Given the description of an element on the screen output the (x, y) to click on. 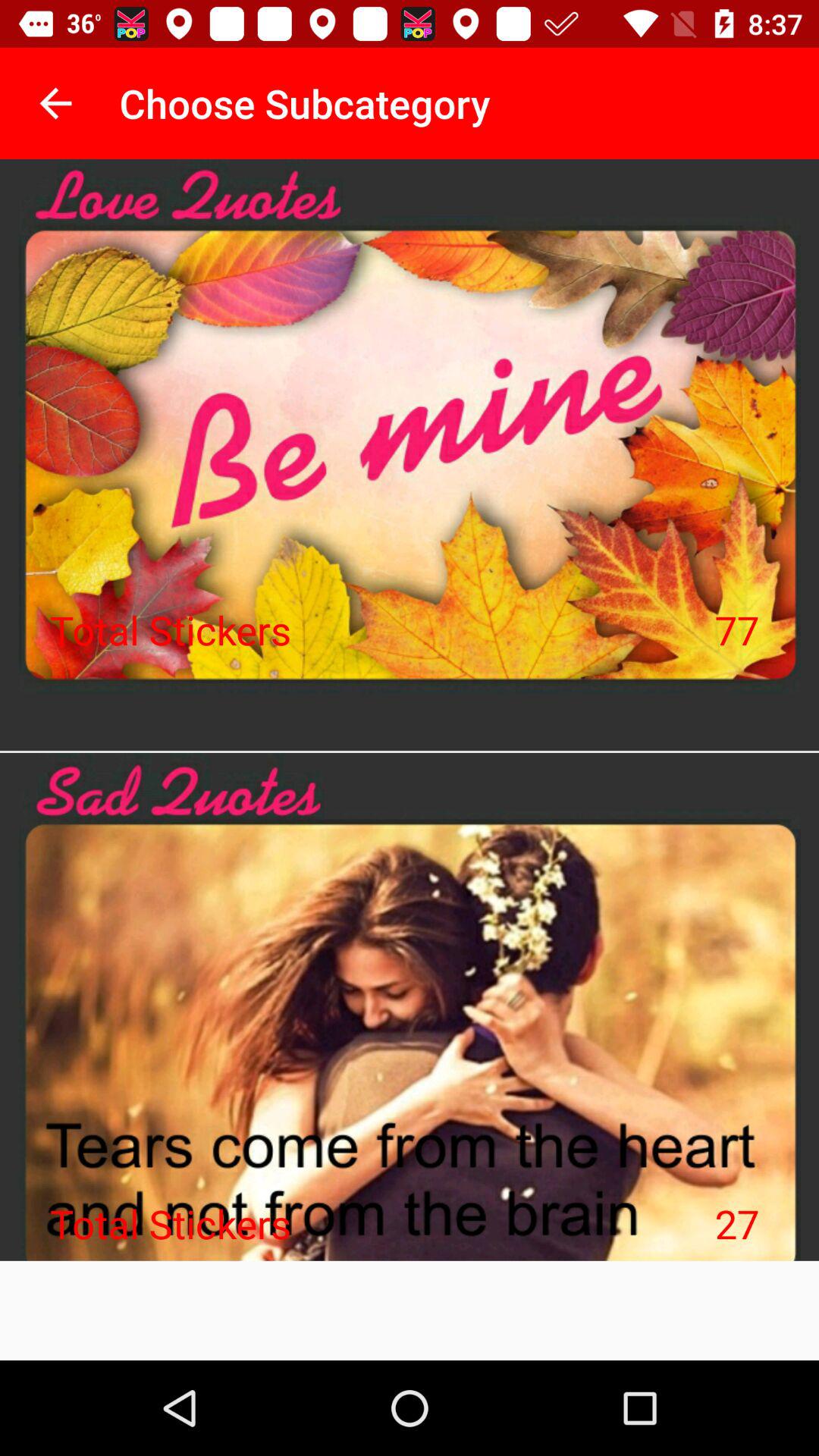
tap icon at the top left corner (55, 103)
